Given the description of an element on the screen output the (x, y) to click on. 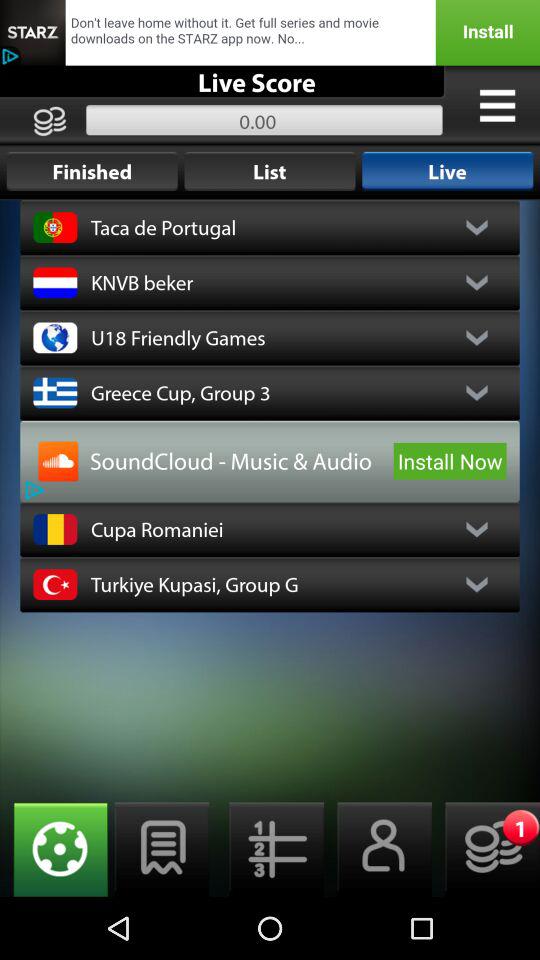
go to profile information (378, 849)
